Given the description of an element on the screen output the (x, y) to click on. 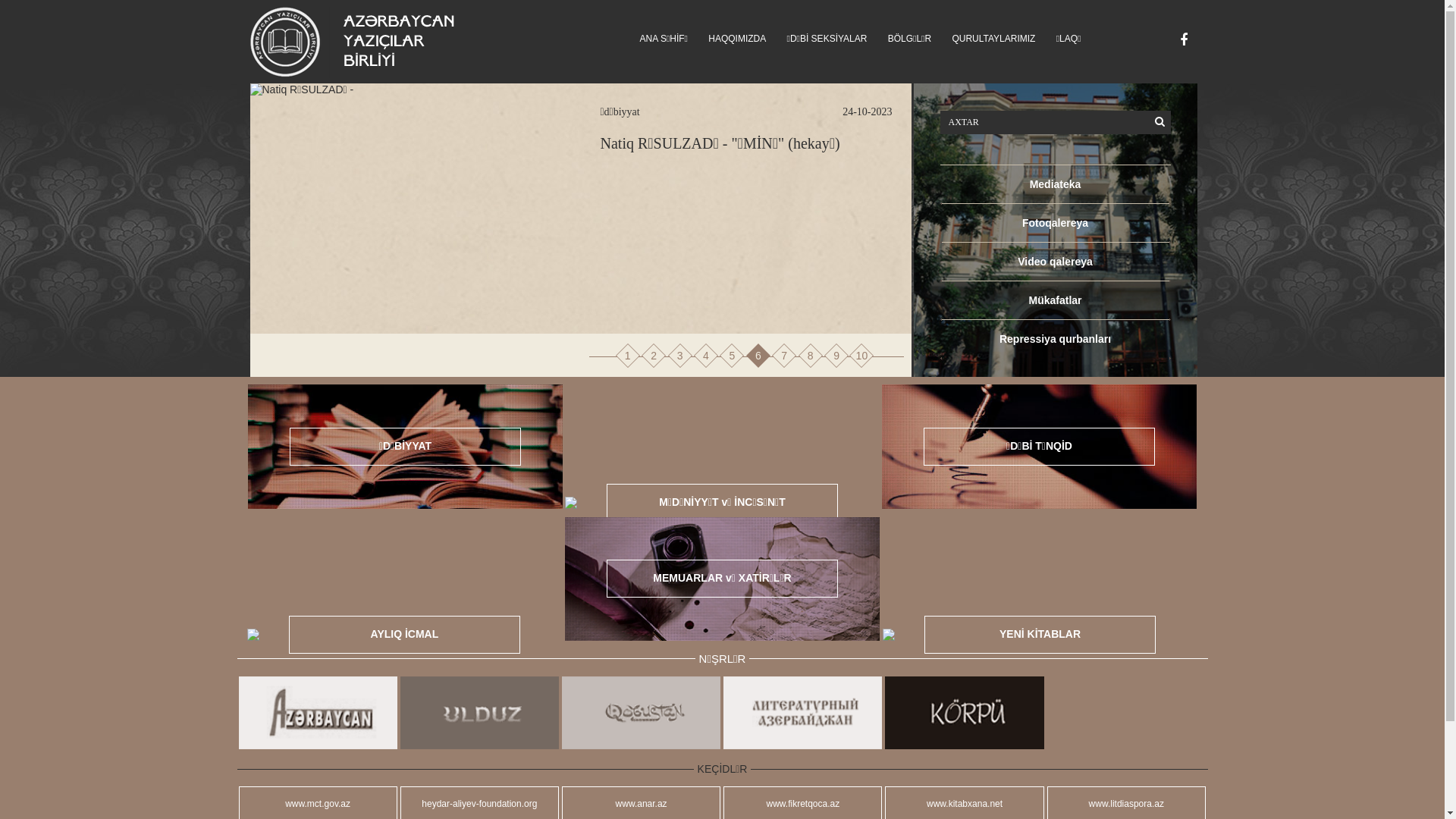
HAQQIMIZDA Element type: text (736, 38)
1 Element type: text (627, 355)
5 Element type: text (731, 355)
4 Element type: text (705, 355)
Video qalereya Element type: text (1055, 261)
QURULTAYLARIMIZ Element type: text (993, 38)
2 Element type: text (653, 355)
Mediateka Element type: text (1055, 183)
6 Element type: text (758, 355)
7 Element type: text (783, 355)
8 Element type: text (810, 355)
3 Element type: text (680, 355)
10 Element type: text (862, 355)
9 Element type: text (836, 355)
Fotoqalereya Element type: text (1055, 222)
